Given the description of an element on the screen output the (x, y) to click on. 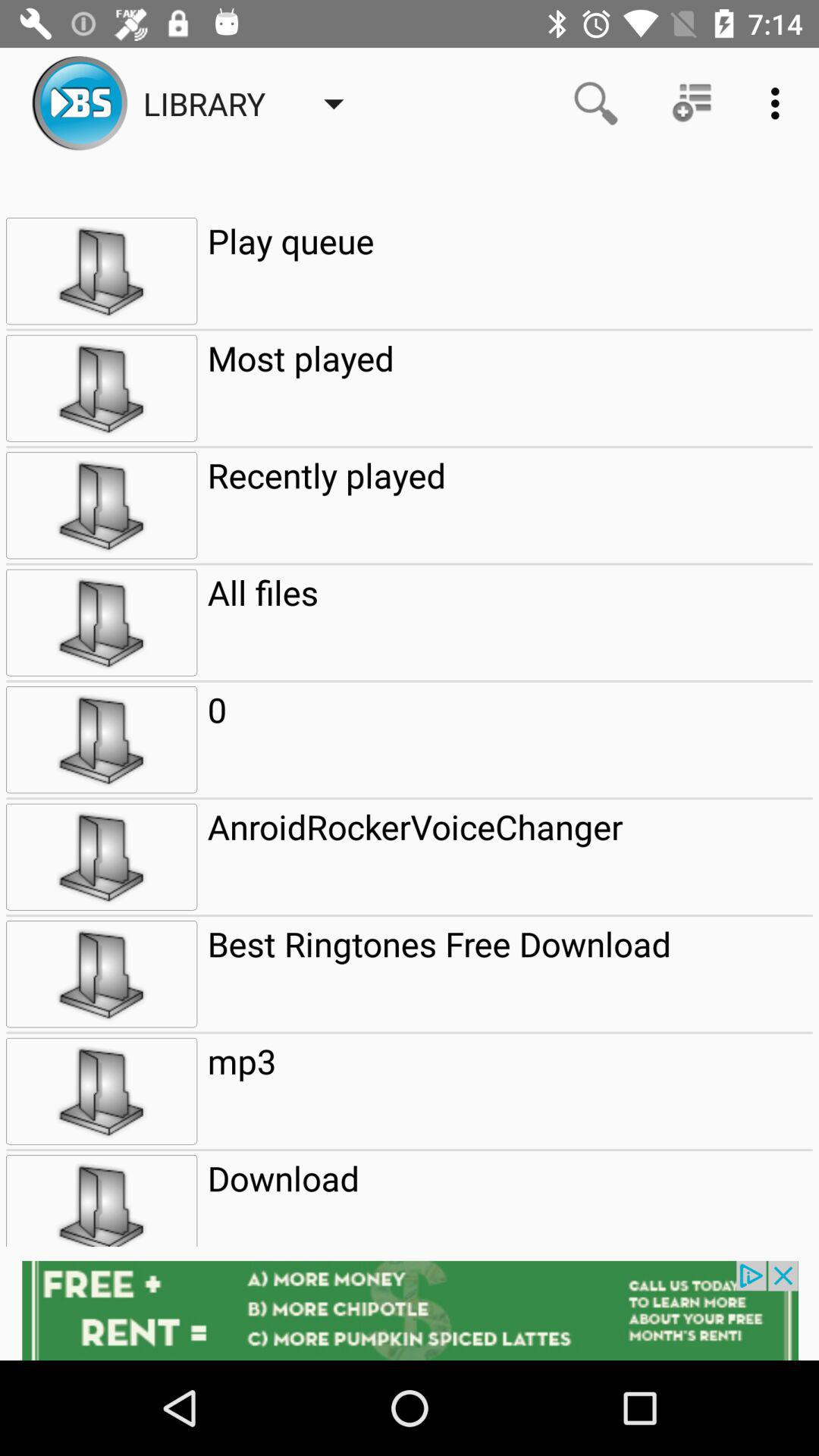
advertisement clicking option (409, 1310)
